Given the description of an element on the screen output the (x, y) to click on. 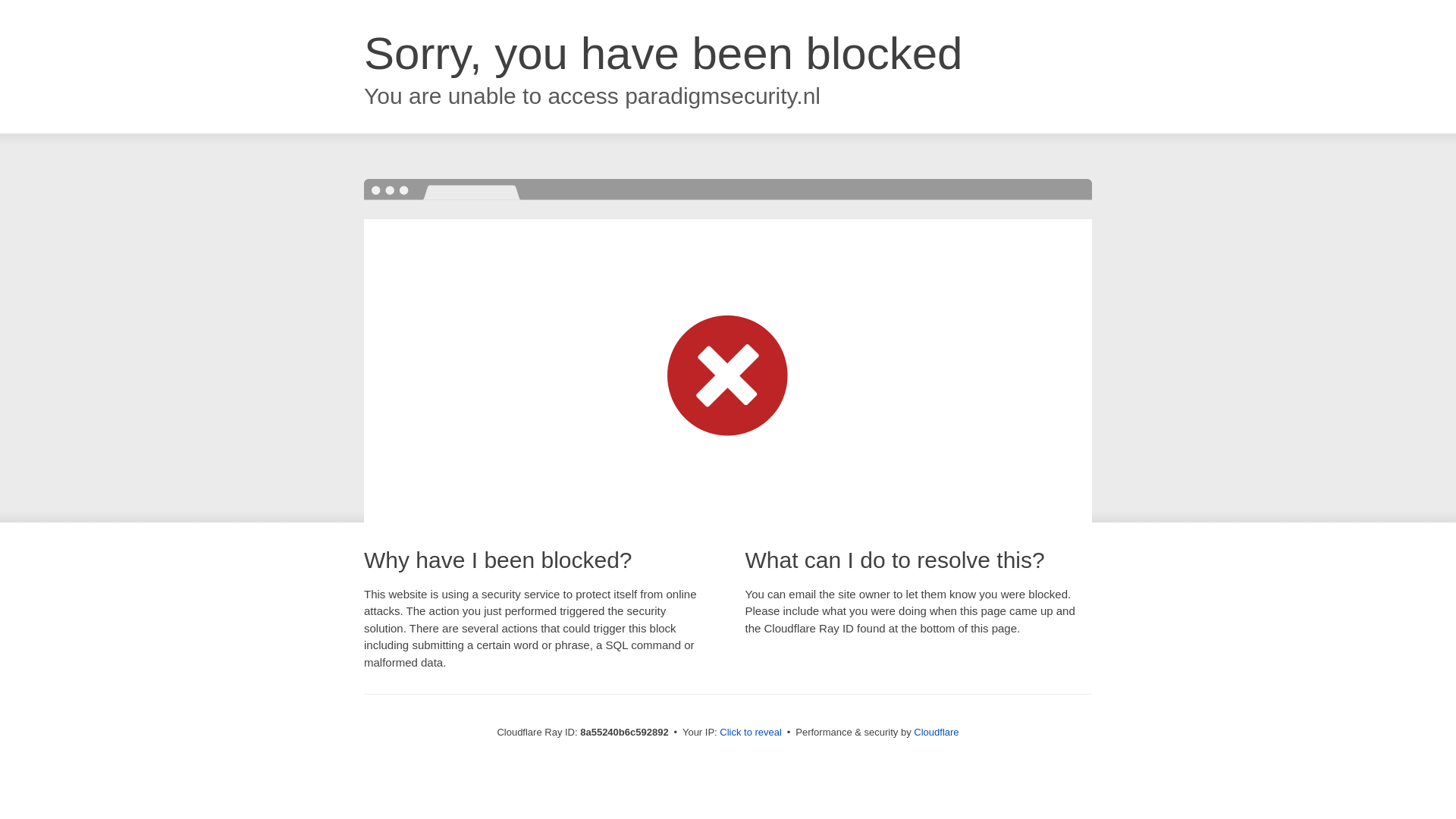
Click to reveal (750, 732)
Cloudflare (936, 731)
